Given the description of an element on the screen output the (x, y) to click on. 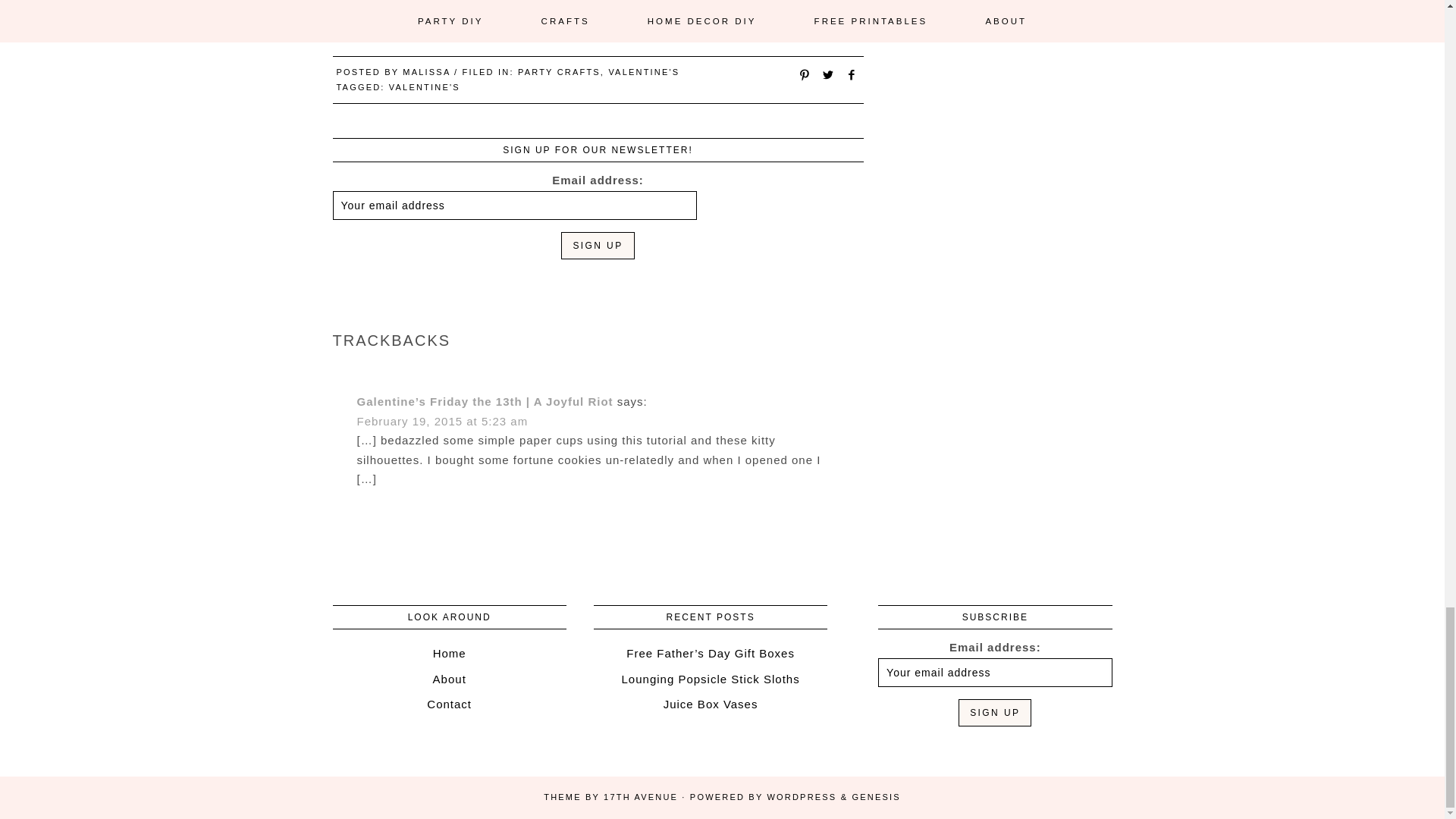
PARTY CRAFTS (558, 71)
VALENTINE'S (424, 86)
About (448, 678)
February 19, 2015 at 5:23 am (441, 420)
Sign up (994, 712)
Sign up (596, 245)
Sign up (596, 245)
Easy DIY Conversation Heart Coasters (488, 20)
Home (448, 653)
Mini Wood and Copper Conversation Heart Garland (593, 20)
Easy DIY Conversation Heart Coasters (488, 20)
Mini Wood and Copper Conversation Heart Garland (593, 20)
VALENTINE'S (643, 71)
